Given the description of an element on the screen output the (x, y) to click on. 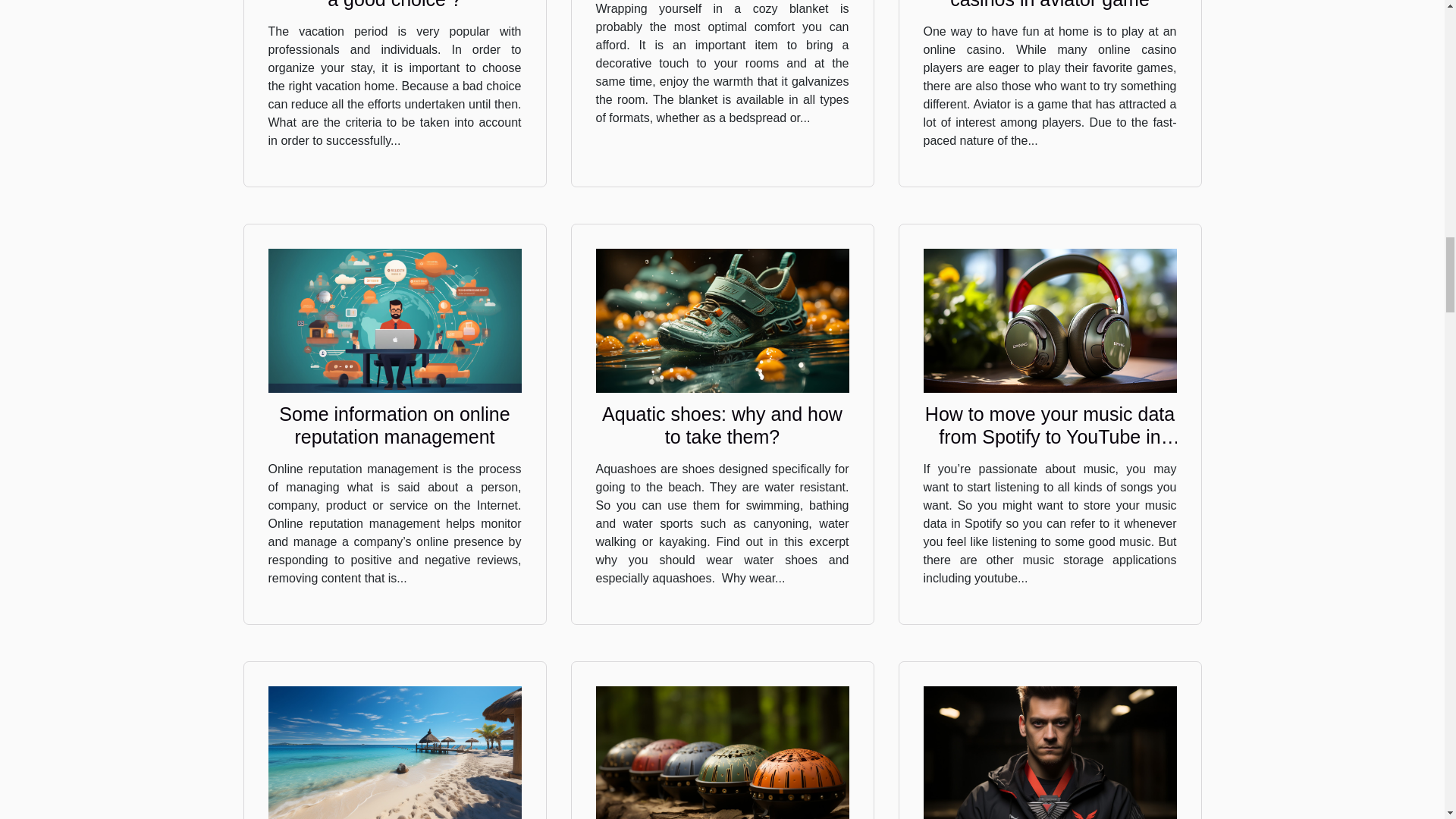
Some information on online reputation management (394, 425)
Vacation home : how to make a good choice ? (394, 4)
Some tips on how to win at casinos in aviator game (1049, 4)
Aquatic shoes: why and how to take them? (722, 425)
